Given the description of an element on the screen output the (x, y) to click on. 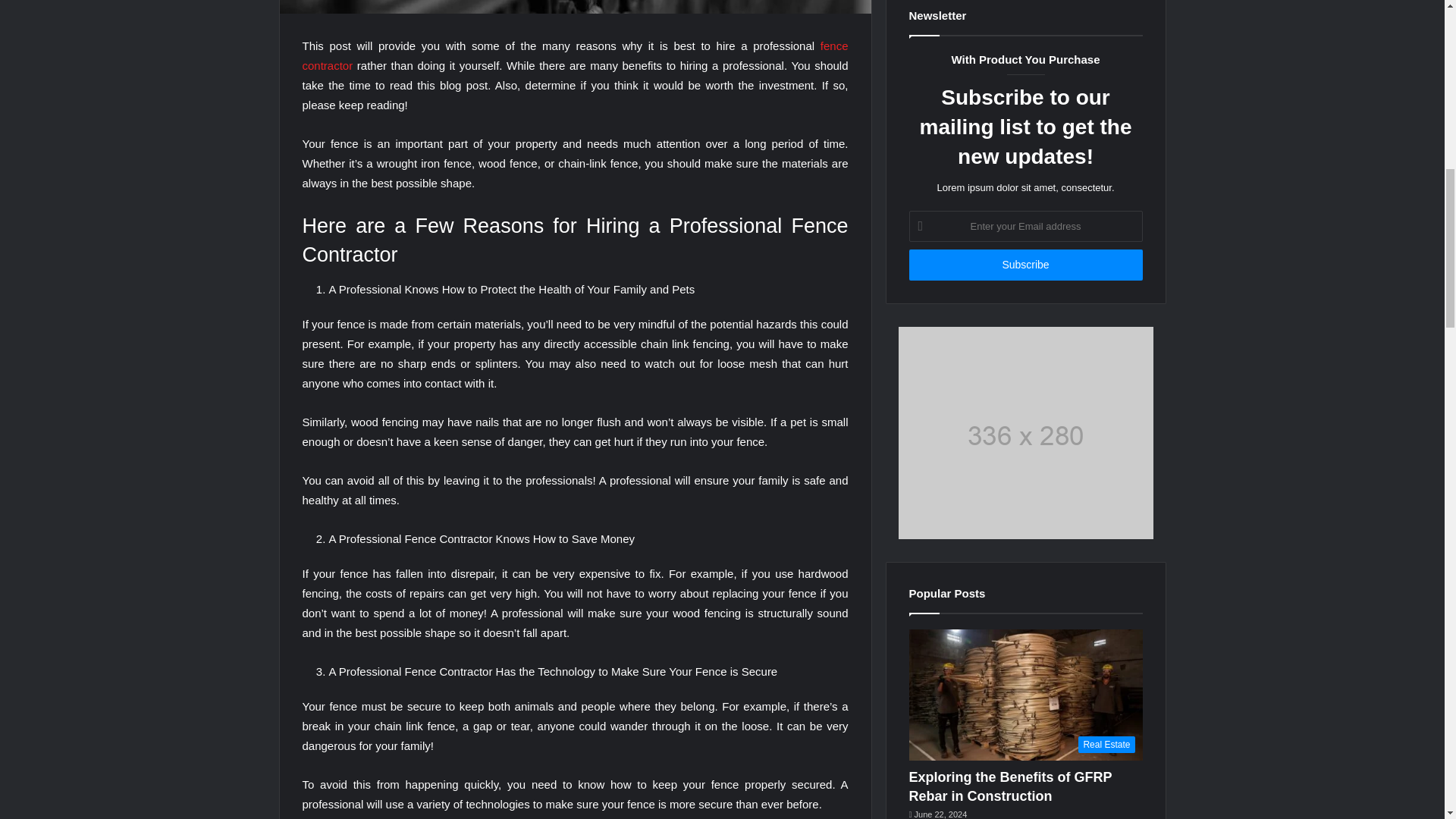
Subscribe (1025, 264)
fence contractor (574, 55)
